Given the description of an element on the screen output the (x, y) to click on. 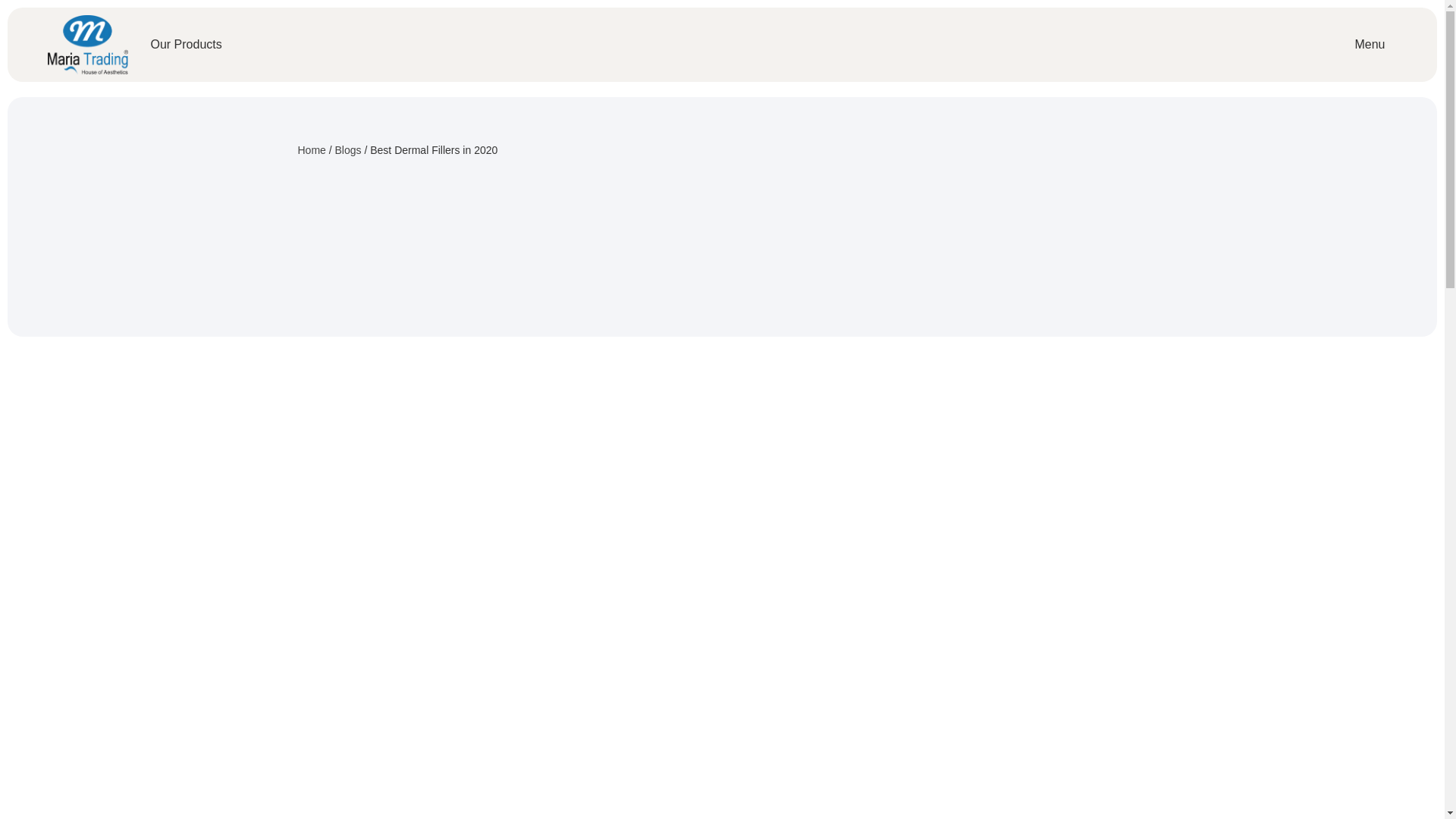
Menu (1370, 44)
Our Products (186, 44)
Our Products (186, 44)
